Given the description of an element on the screen output the (x, y) to click on. 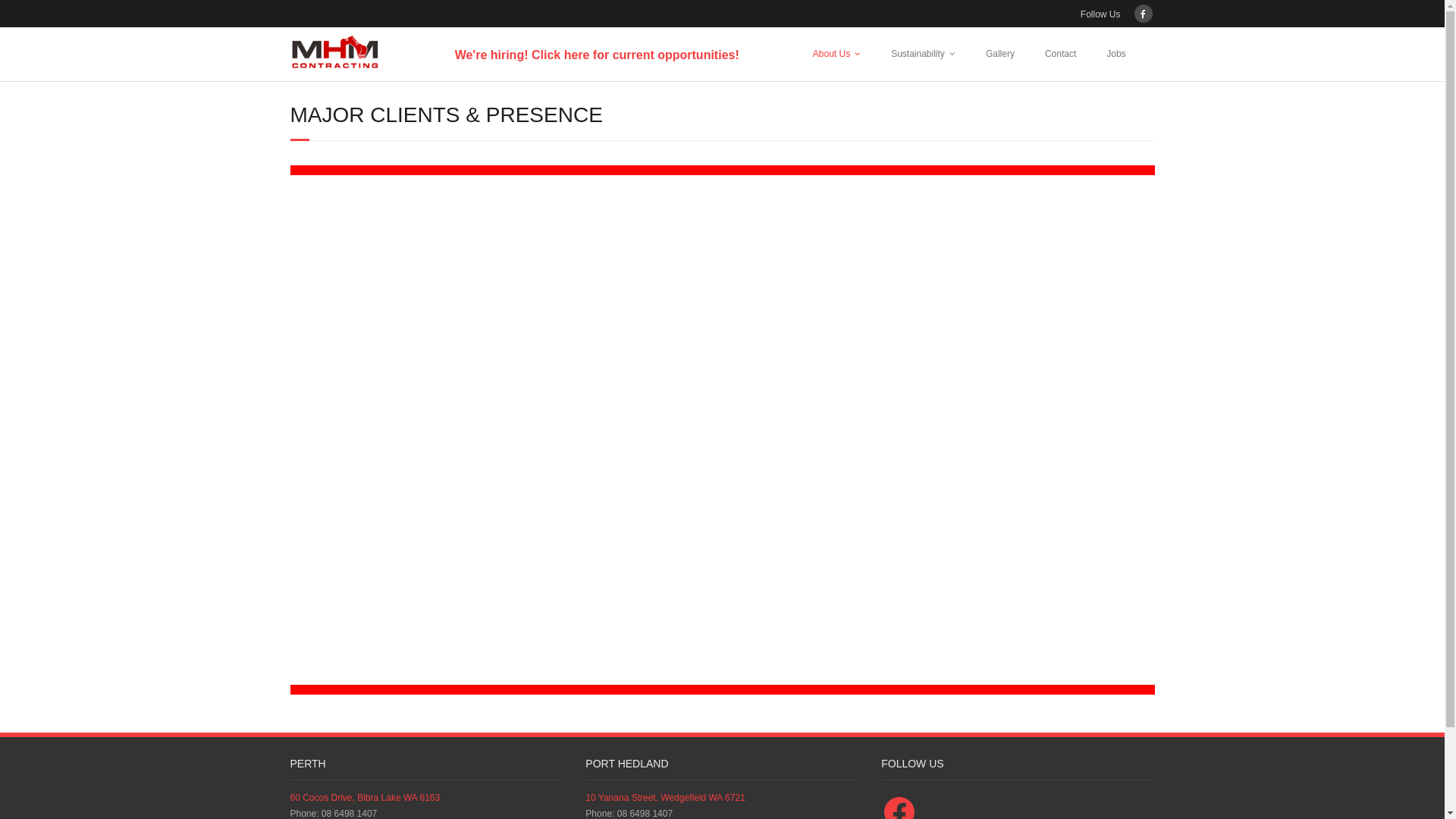
Sustainability Element type: text (922, 53)
Gallery Element type: text (999, 53)
We're hiring! Click here for current opportunities! Element type: text (597, 54)
Jobs Element type: text (1115, 53)
10 Yanana Street, Wedgefield WA 6721 Element type: text (664, 797)
website-2_04-01-21-2-mp4 Element type: hover (721, 427)
About Us Element type: text (836, 53)
60 Cocos Drive, Bibra Lake WA 6163 Element type: text (364, 797)
MHM14 Element type: hover (721, 689)
Contact Element type: text (1060, 53)
